Given the description of an element on the screen output the (x, y) to click on. 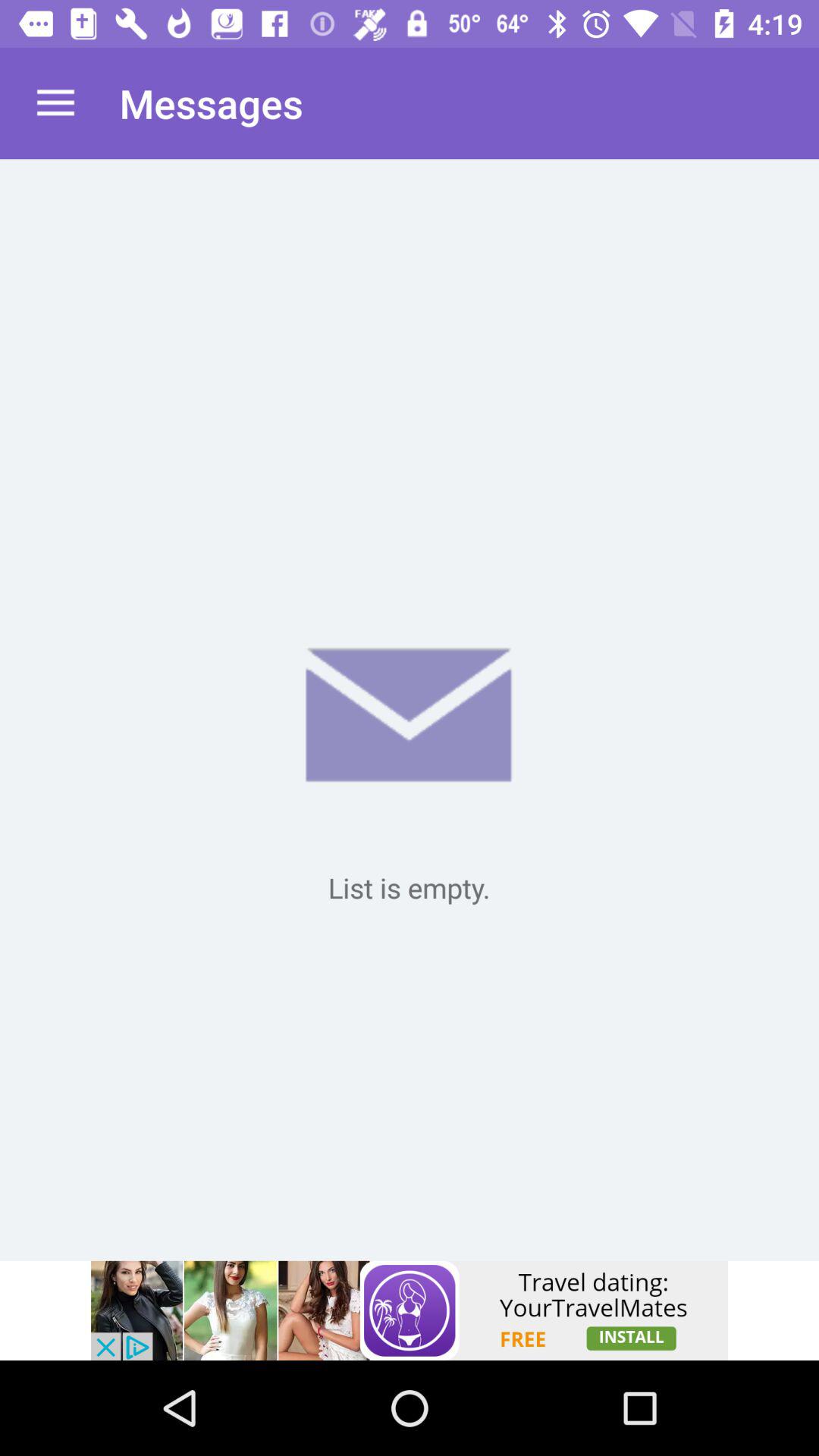
open advertisement (409, 1310)
